Given the description of an element on the screen output the (x, y) to click on. 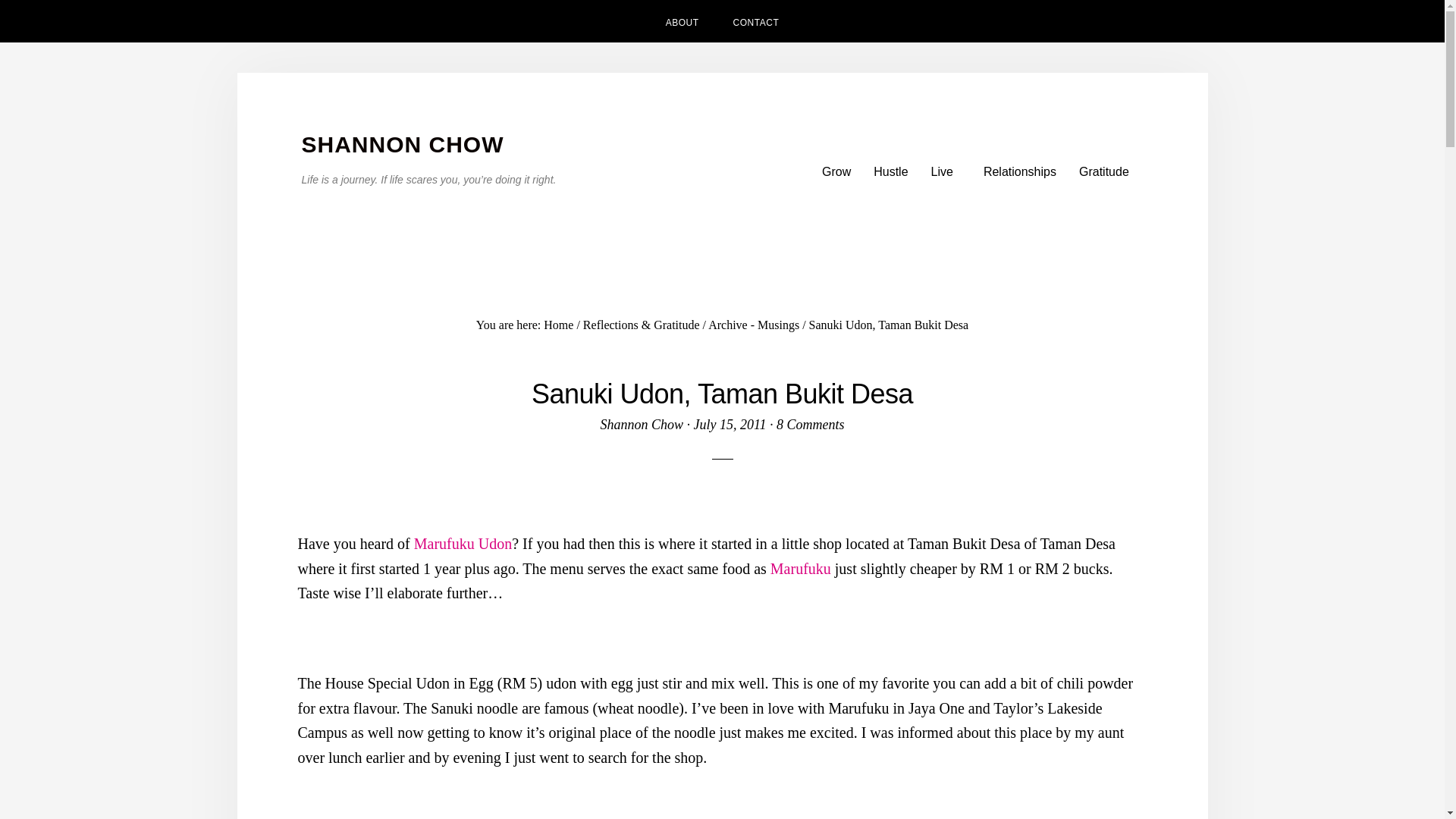
Gratitude (1103, 171)
Grow (835, 171)
Home (558, 324)
Live (946, 171)
8 Comments (810, 424)
Hustle (889, 171)
ABOUT (682, 21)
Archive - Musings (753, 324)
Marufuku (800, 568)
